Given the description of an element on the screen output the (x, y) to click on. 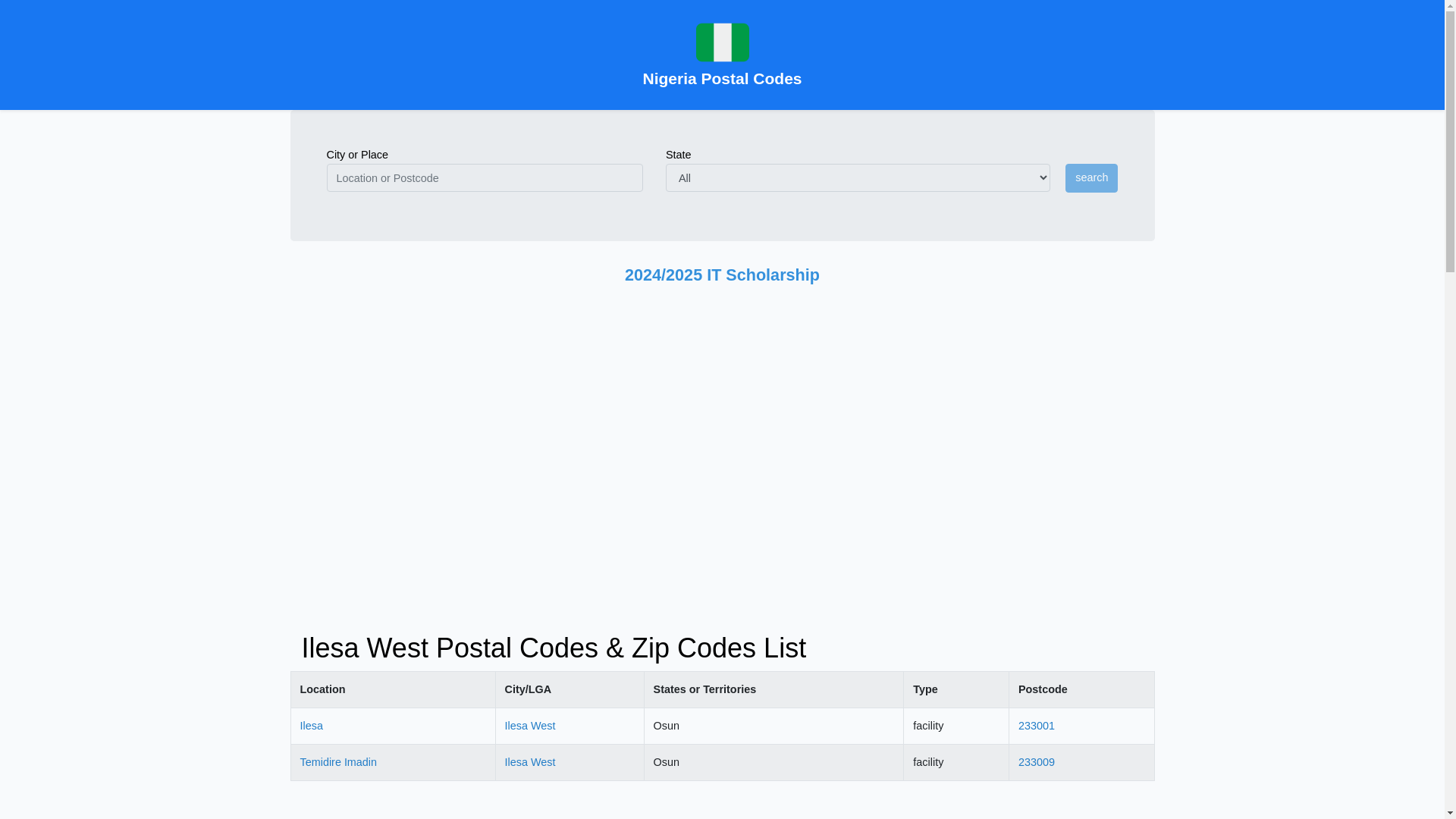
233001 (1035, 725)
search (1091, 177)
Temidire Imadin (338, 761)
Ilesa West (530, 725)
search (1091, 177)
Ilesa (311, 725)
Nigeria Postal Codes (722, 54)
Ilesa West (530, 761)
233009 (1035, 761)
